Given the description of an element on the screen output the (x, y) to click on. 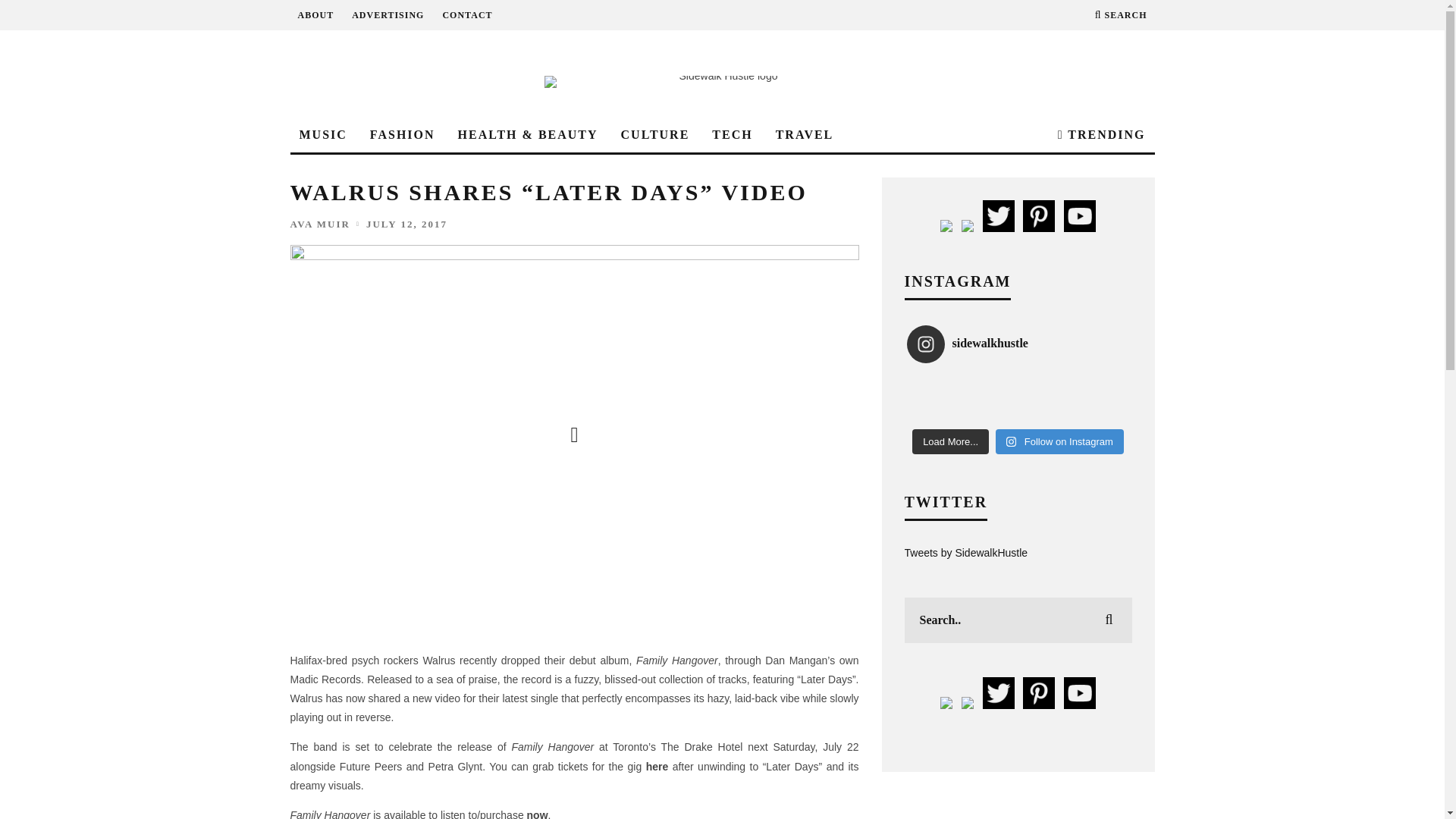
Search (1120, 15)
MUSIC (322, 134)
FASHION (402, 134)
SEARCH (1120, 15)
ADVERTISING (387, 15)
ABOUT (315, 15)
Log In (722, 408)
CONTACT (467, 15)
